Given the description of an element on the screen output the (x, y) to click on. 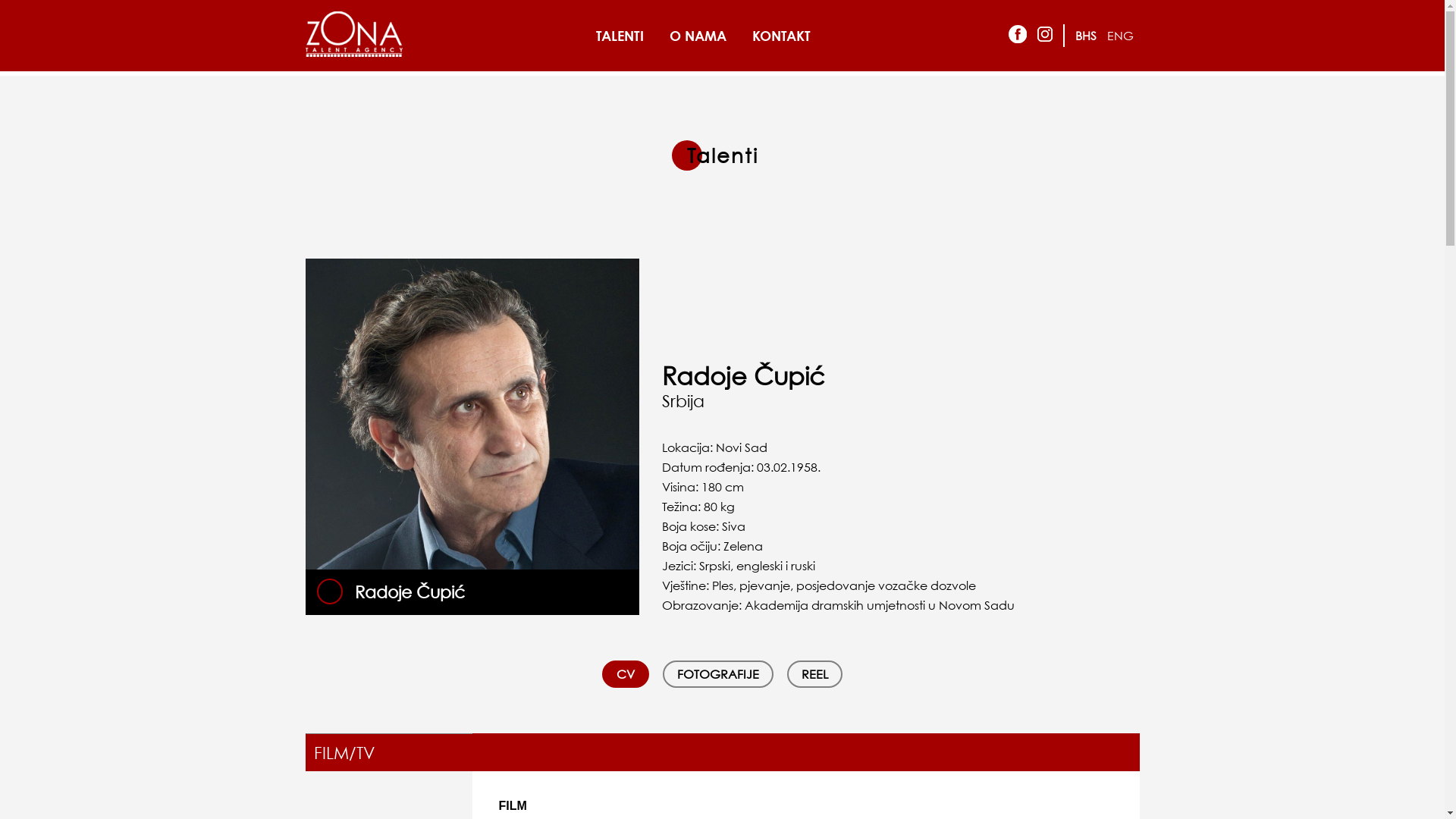
ENG Element type: text (1120, 35)
BHS Element type: text (1085, 35)
KONTAKT Element type: text (781, 35)
O NAMA Element type: text (697, 35)
TALENTI Element type: text (619, 35)
